Given the description of an element on the screen output the (x, y) to click on. 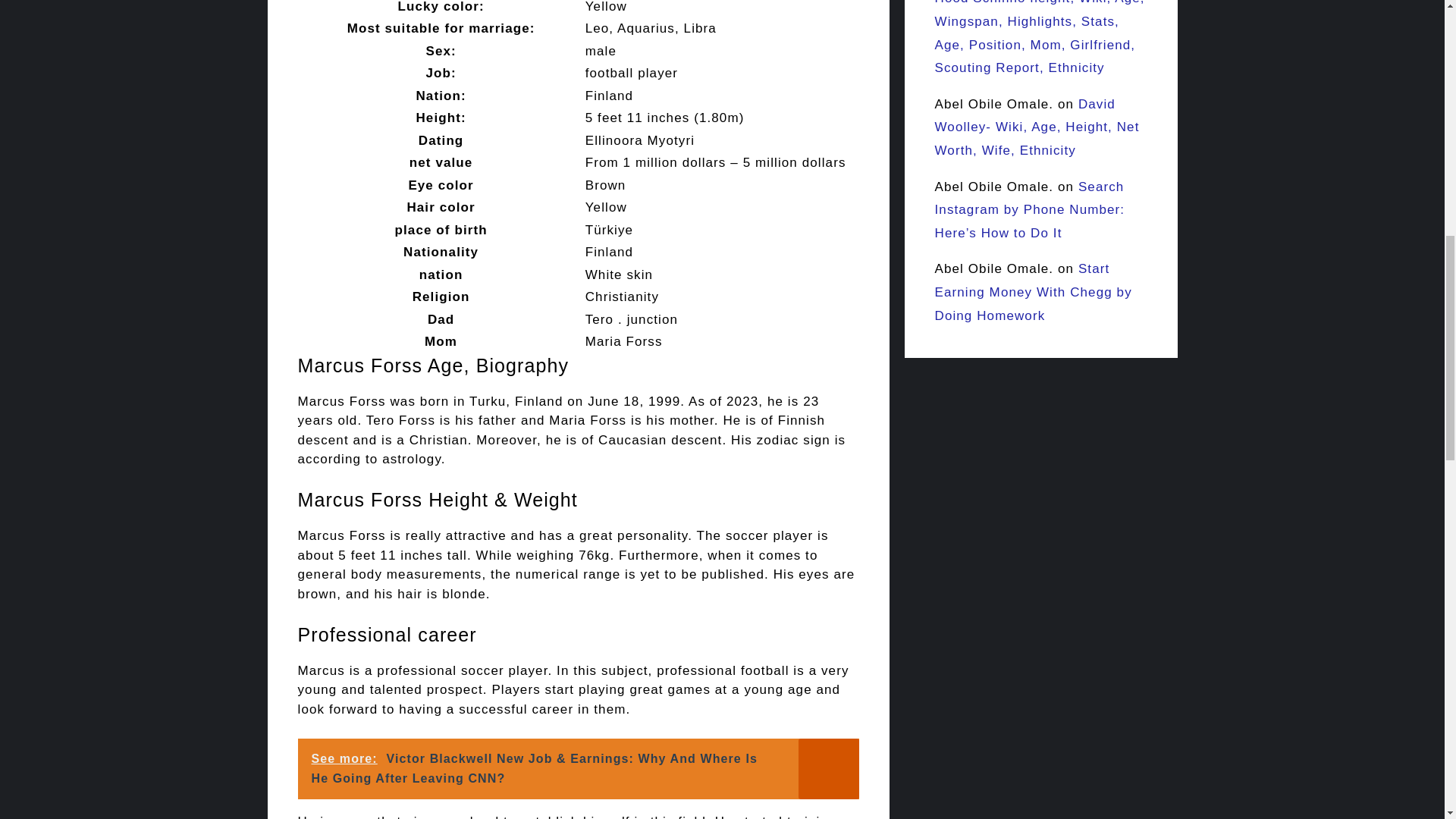
Start Earning Money With Chegg by Doing Homework (1032, 291)
David Woolley- Wiki, Age, Height, Net Worth, Wife, Ethnicity (1036, 127)
